Given the description of an element on the screen output the (x, y) to click on. 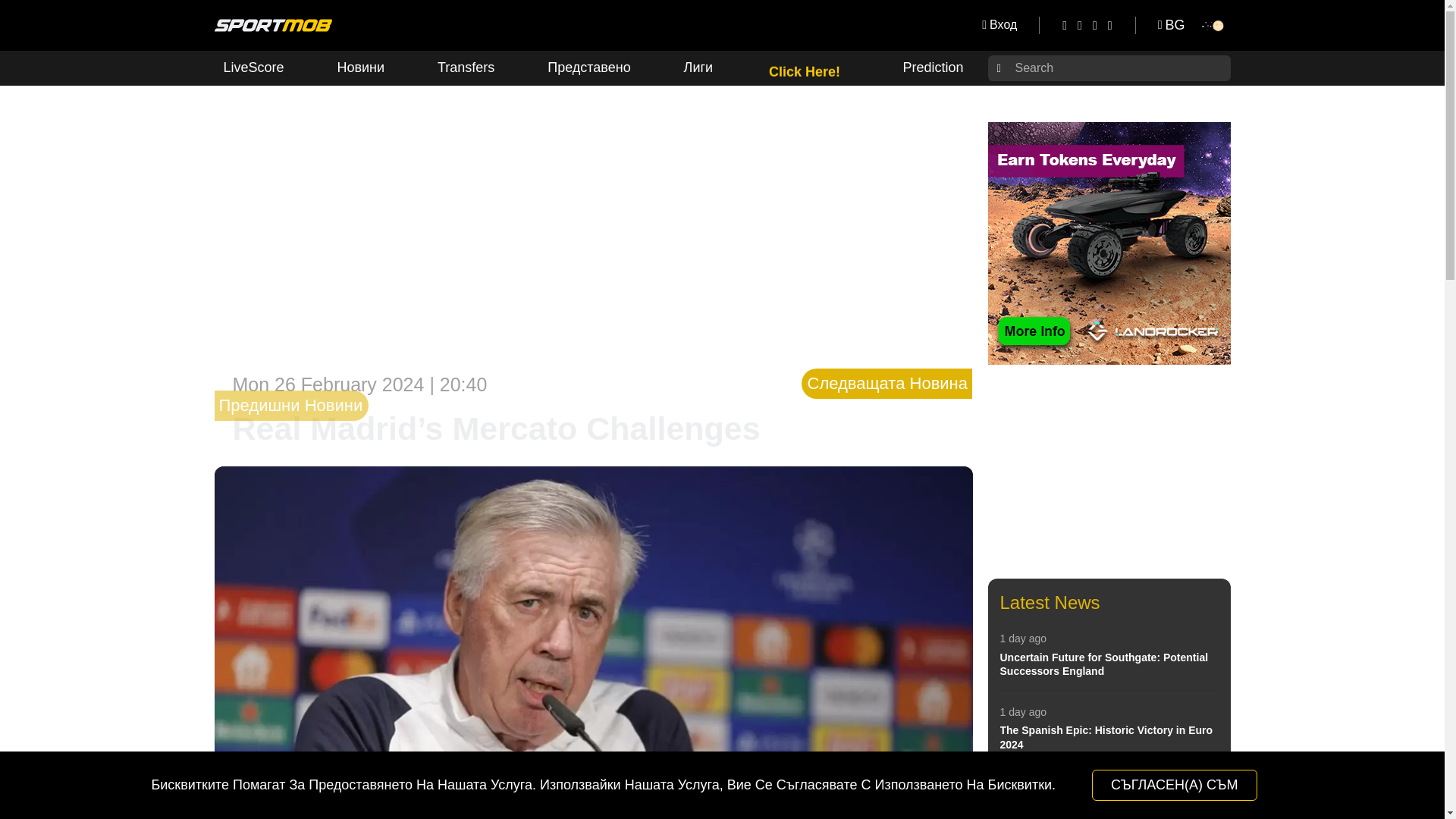
BG (1172, 24)
Transfers (465, 67)
LiveScore (252, 67)
Advertisement (1108, 471)
Prediction (932, 67)
